Given the description of an element on the screen output the (x, y) to click on. 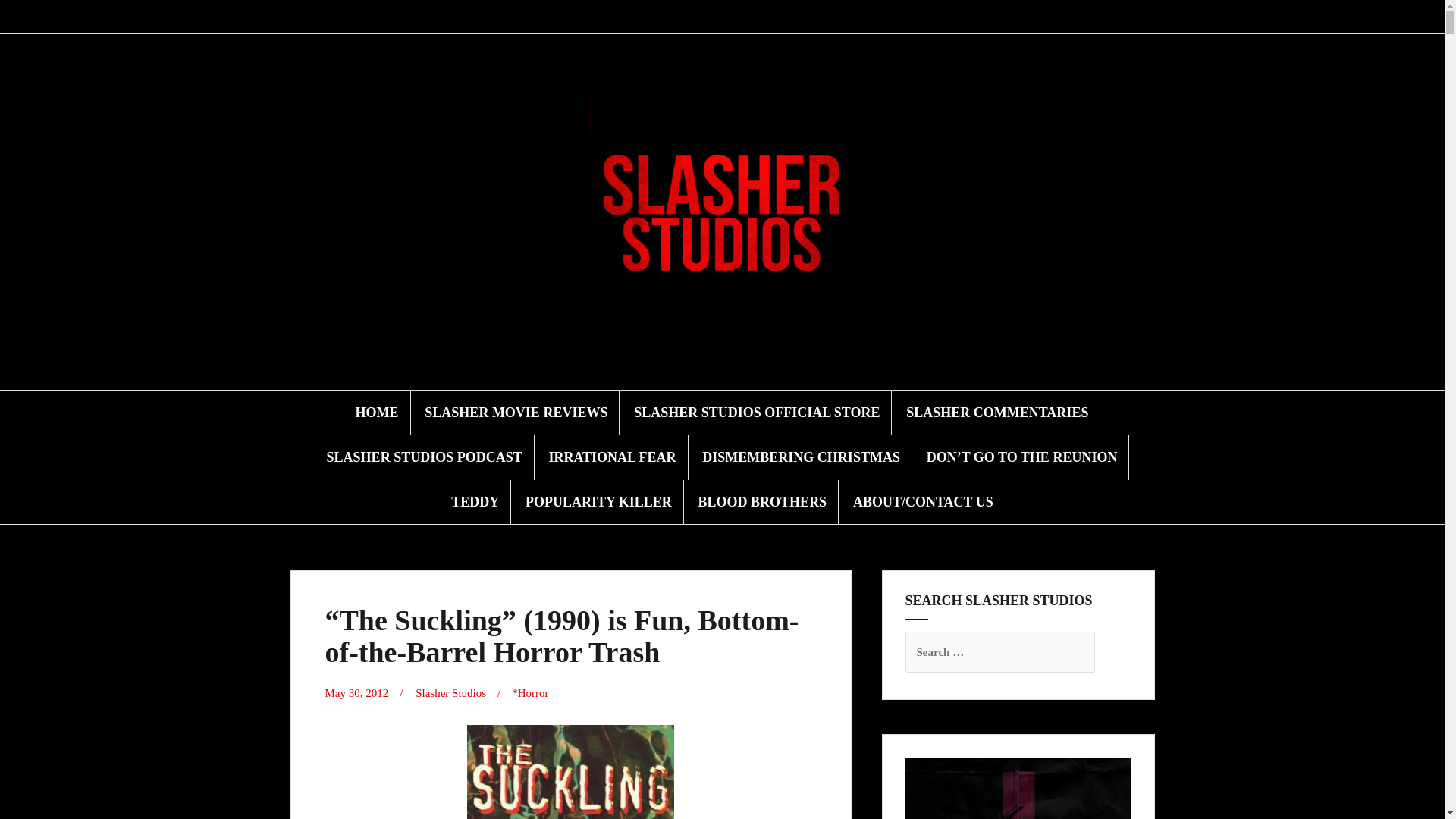
TEDDY (475, 502)
SLASHER STUDIOS OFFICIAL STORE (756, 413)
SLASHER STUDIOS PODCAST (424, 457)
SLASHER COMMENTARIES (996, 413)
Slasher Studios (450, 693)
IRRATIONAL FEAR (611, 457)
BLOOD BROTHERS (762, 502)
Dismembering Christmas (730, 16)
suckling vhs front (570, 771)
Irrational Fear (713, 16)
Home (622, 16)
Slasher Commentaries (676, 16)
Popularity Killer (785, 16)
Teddy (767, 16)
DISMEMBERING CHRISTMAS (800, 457)
